Given the description of an element on the screen output the (x, y) to click on. 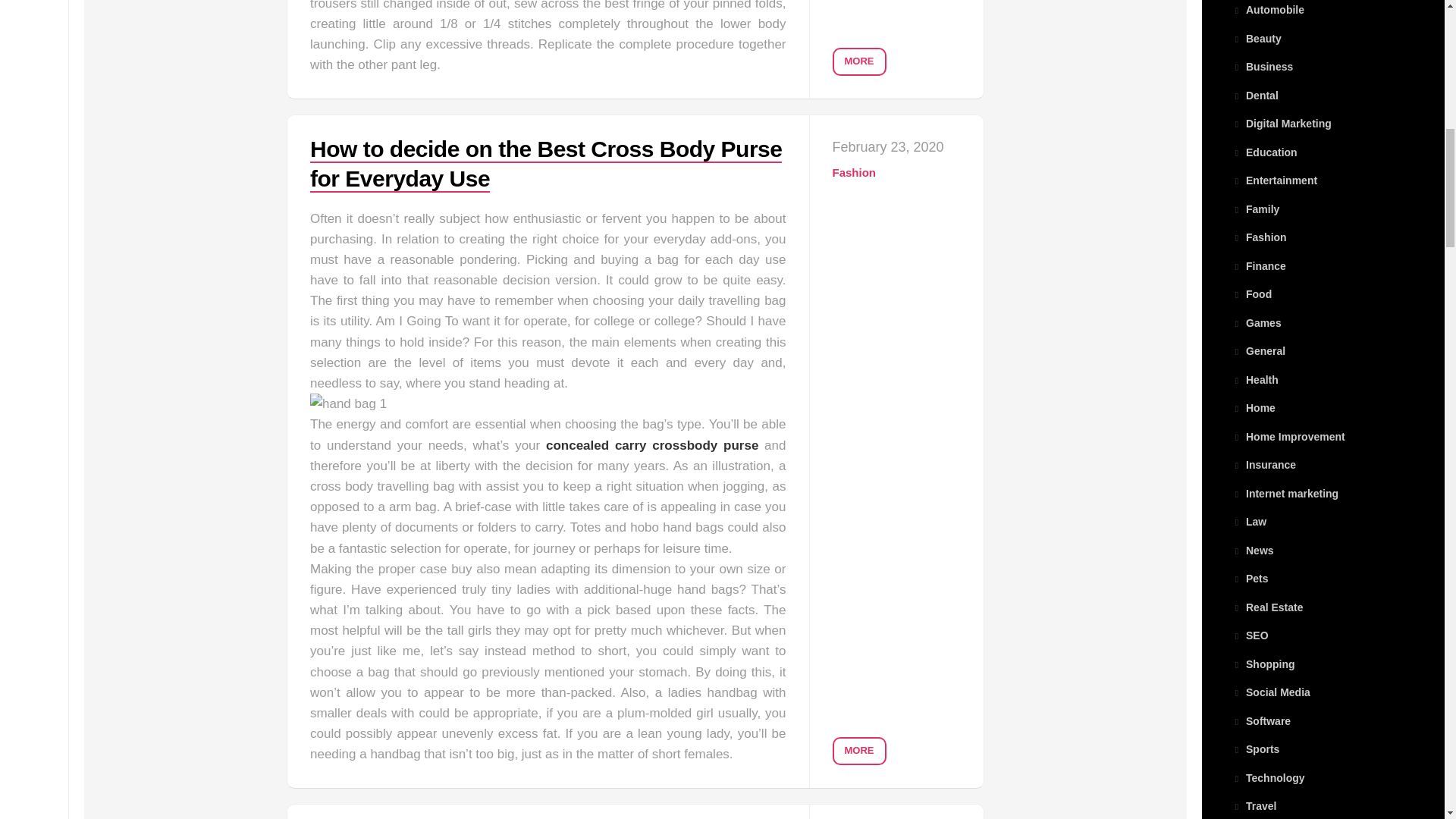
Finance (1258, 265)
Digital Marketing (1281, 123)
General (1258, 350)
News (1252, 550)
Pets (1249, 578)
Social Media (1270, 692)
Family (1255, 209)
Food (1251, 294)
Dental (1254, 95)
SEO (1249, 635)
Games (1256, 322)
Travel (1253, 806)
Fashion (1259, 236)
Education (1264, 151)
Real Estate (1267, 606)
